Given the description of an element on the screen output the (x, y) to click on. 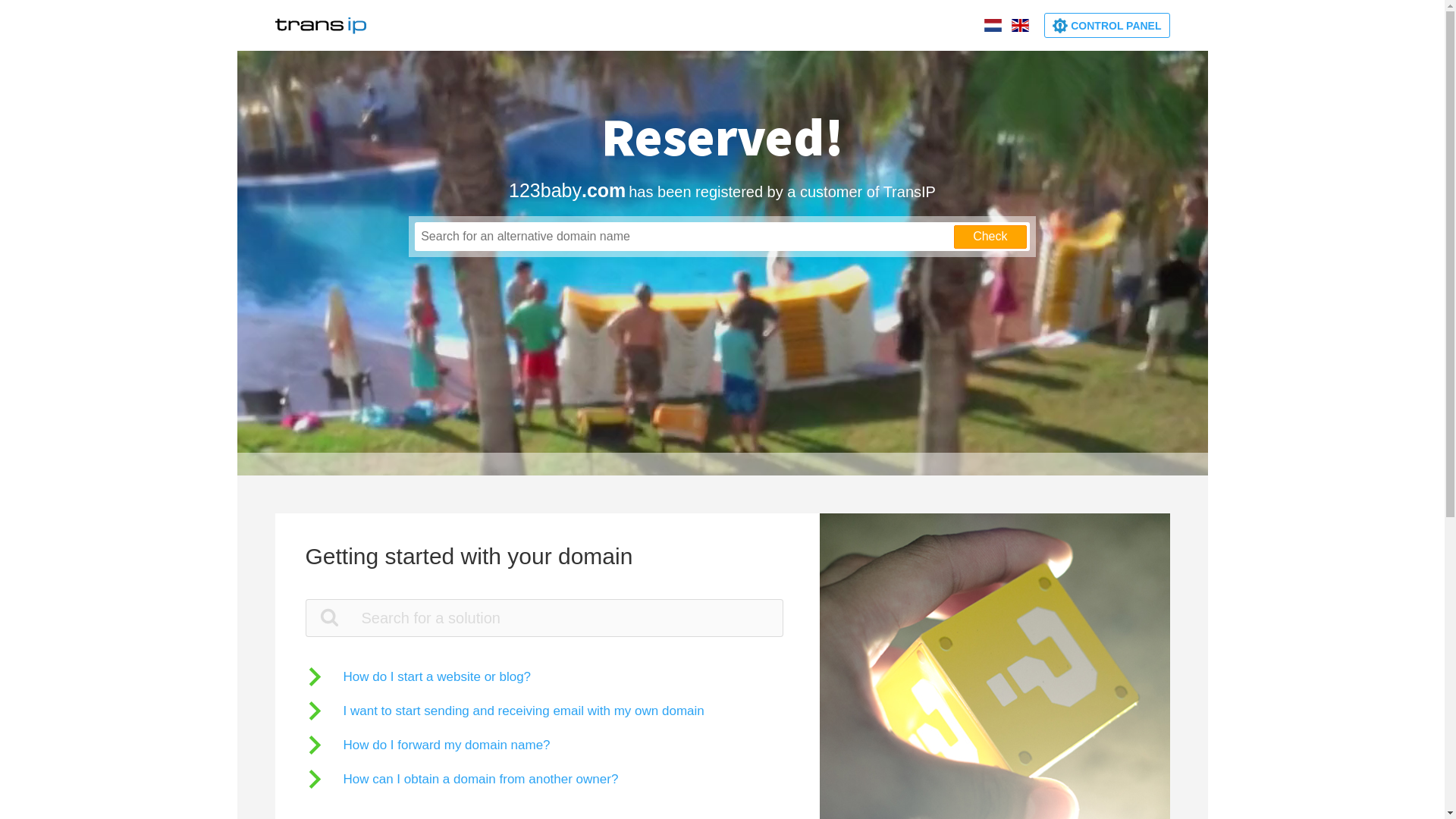
How do I start a website or blog? Element type: text (417, 676)
CONTROL PANEL Element type: text (1106, 24)
How do I forward my domain name? Element type: text (426, 744)
Check Element type: text (989, 236)
How can I obtain a domain from another owner? Element type: text (461, 778)
